Given the description of an element on the screen output the (x, y) to click on. 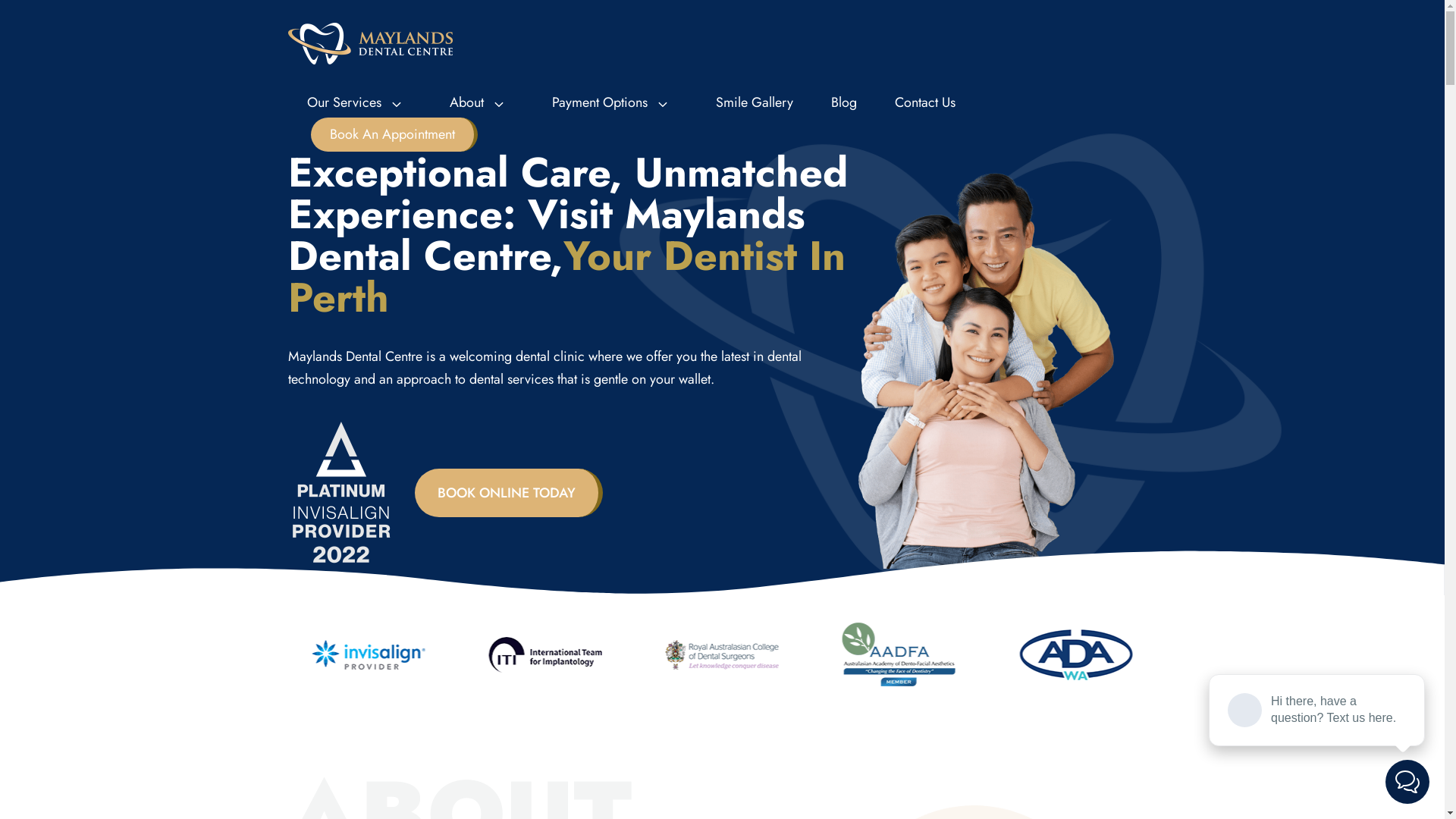
Book An Appointment Element type: text (393, 134)
Our Services Element type: text (359, 102)
Blog Element type: text (843, 102)
Smile Gallery Element type: text (753, 102)
Contact Us Element type: text (924, 102)
BOOK ONLINE TODAY Element type: text (508, 492)
Payment Options Element type: text (614, 102)
About Element type: text (481, 102)
Perth Dentist Element type: hover (370, 42)
Trusted Dentist In Perth Element type: hover (341, 492)
Perth Dentist Element type: hover (370, 43)
